Given the description of an element on the screen output the (x, y) to click on. 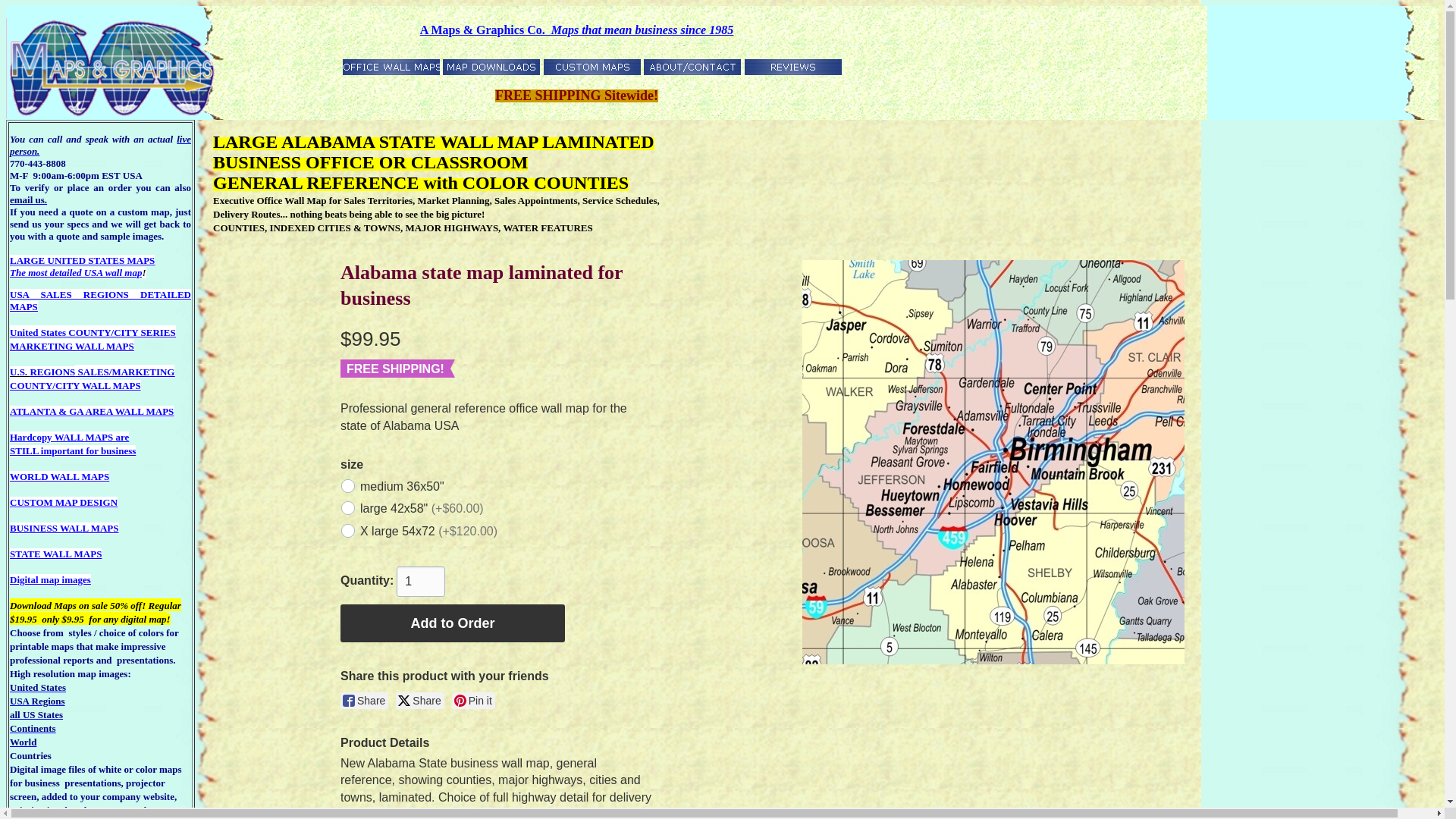
USA Regions (37, 700)
United States (37, 686)
REGIONS (52, 371)
USA SALES R (50, 294)
CUSTOM MAP DESIGN (63, 501)
World (23, 741)
Digital map images (82, 266)
WORLD WALL MAPS (50, 579)
EGIONS (59, 476)
STATE WALL MAPS (109, 294)
Continents (55, 553)
LARGE U (33, 727)
live person. (32, 260)
